Given the description of an element on the screen output the (x, y) to click on. 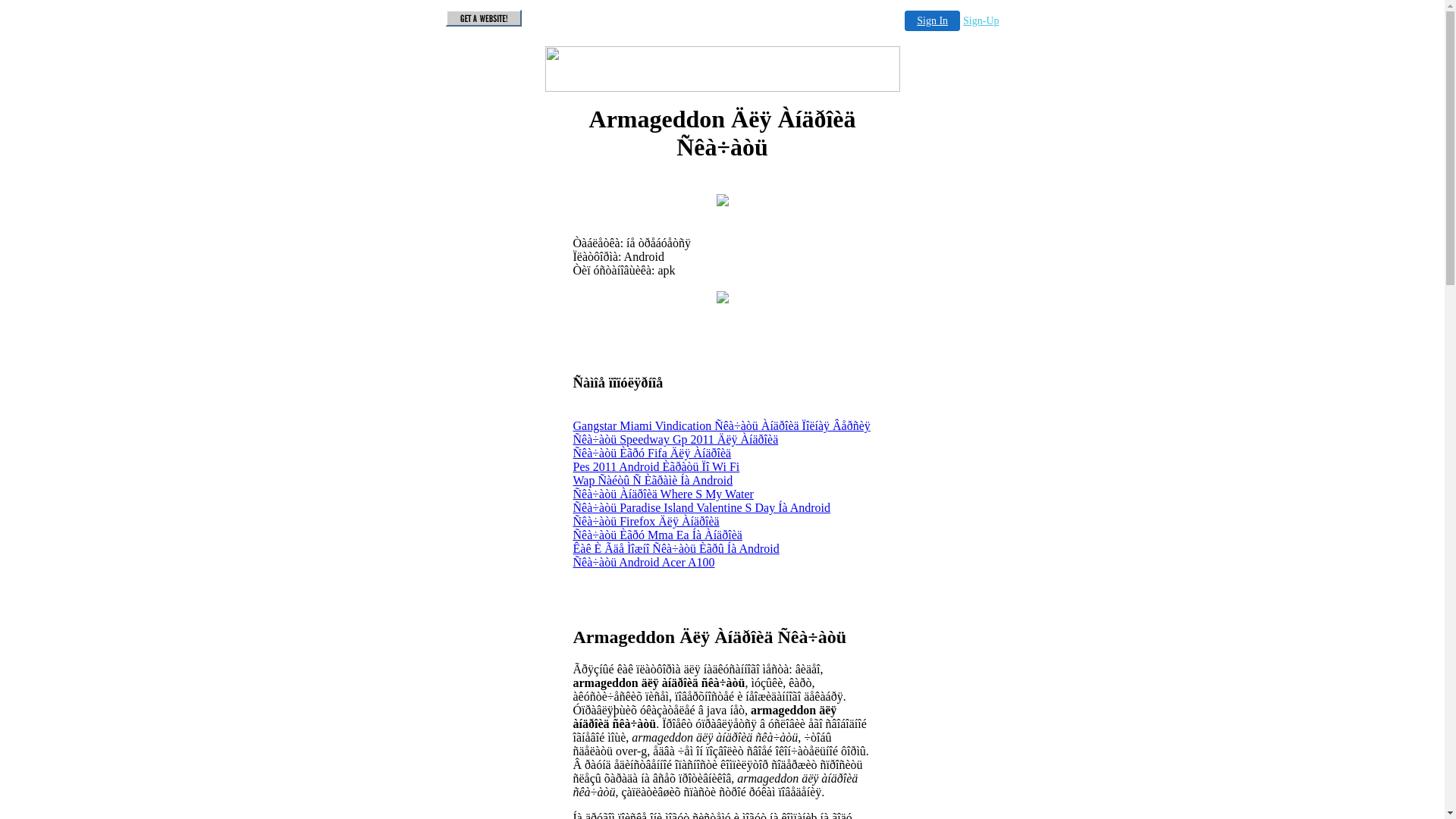
Sign In Element type: text (932, 20)
Sign-Up Element type: text (980, 20)
